Given the description of an element on the screen output the (x, y) to click on. 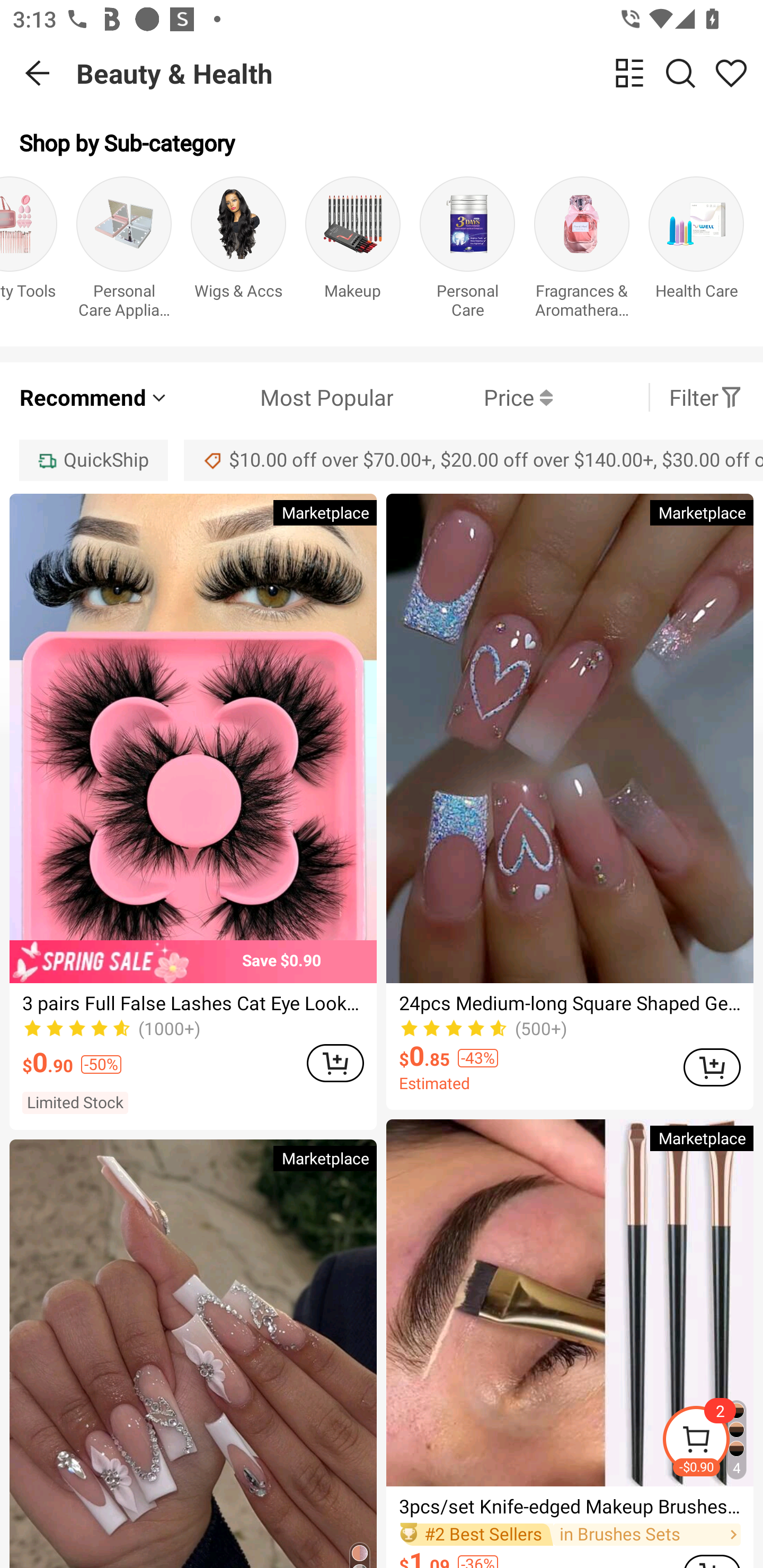
Beauty & Health change view Search Share (419, 72)
change view (629, 72)
Search (679, 72)
Share (730, 72)
Personal Care Appliance (123, 251)
Wigs & Accs (238, 251)
Makeup (352, 251)
Personal Care (467, 251)
Fragrances & Aromatherapy (581, 251)
Health Care (695, 251)
Recommend (94, 397)
Most Popular (280, 397)
Price (472, 397)
Filter (705, 397)
QuickShip (93, 460)
ADD TO CART (334, 1062)
ADD TO CART (711, 1067)
-$0.90 (712, 1441)
#2 Best Sellers in Brushes Sets (569, 1534)
